Given the description of an element on the screen output the (x, y) to click on. 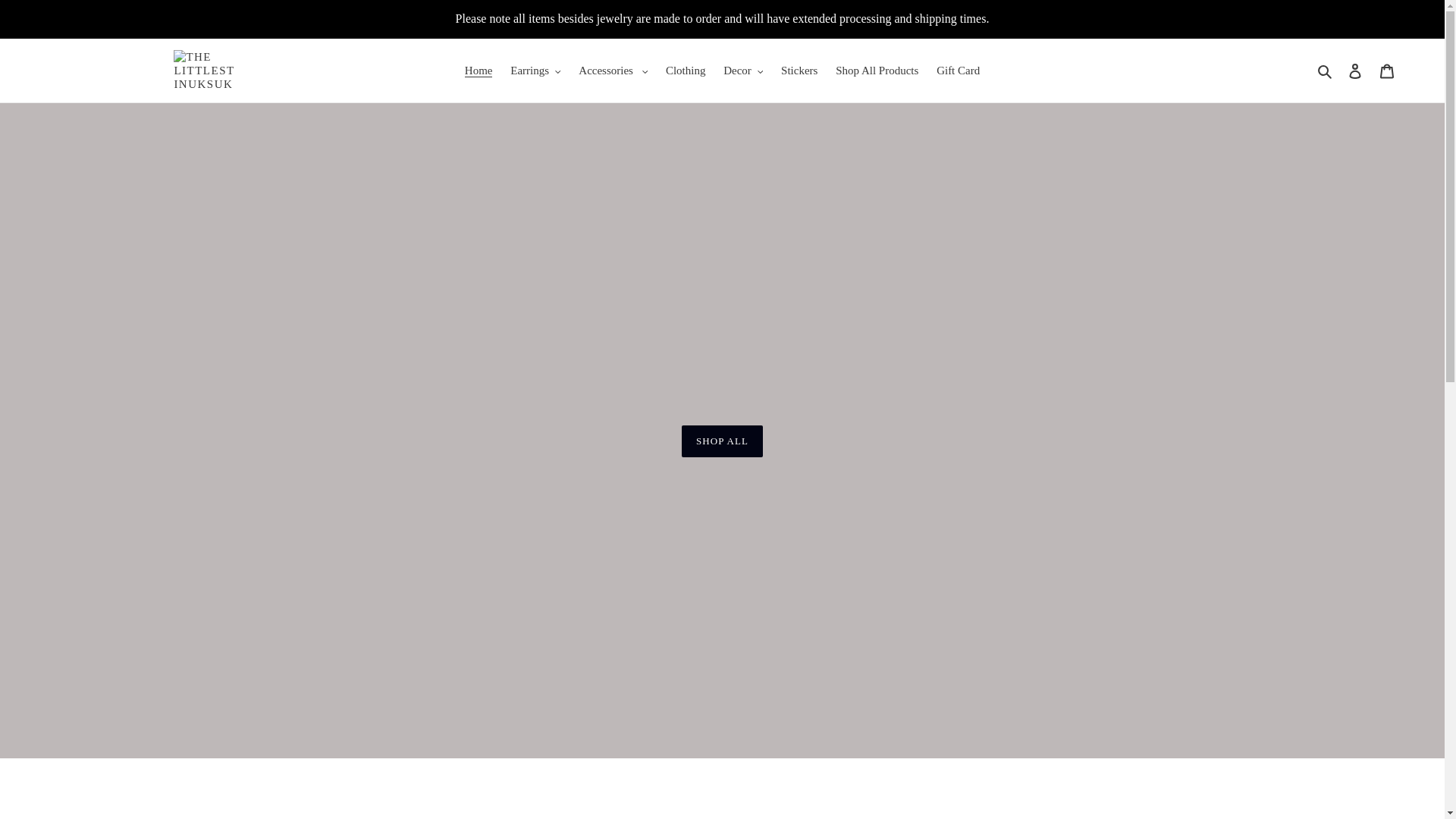
Gift Card (957, 70)
Log in (1355, 70)
Accessories (612, 70)
Shop All Products (877, 70)
Clothing (685, 70)
Cart (1387, 70)
Decor (743, 70)
Home (478, 70)
Stickers (799, 70)
Search (1326, 70)
